Given the description of an element on the screen output the (x, y) to click on. 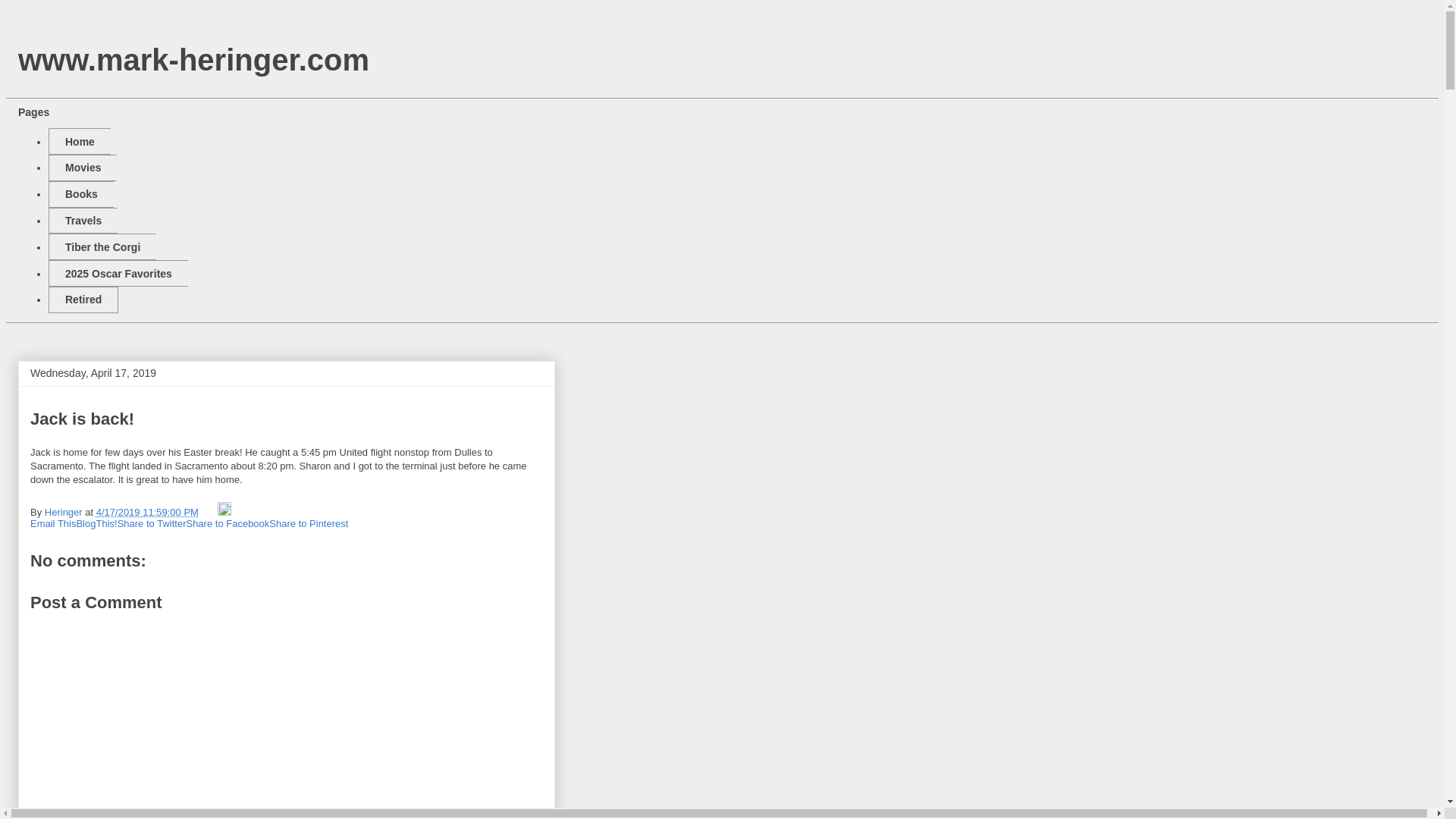
BlogThis! (95, 523)
Share to Facebook (227, 523)
Heringer (64, 511)
author profile (64, 511)
Share to Facebook (227, 523)
Email Post (210, 511)
BlogThis! (95, 523)
Movies (82, 167)
2025 Oscar Favorites (117, 273)
Share to Pinterest (308, 523)
